Given the description of an element on the screen output the (x, y) to click on. 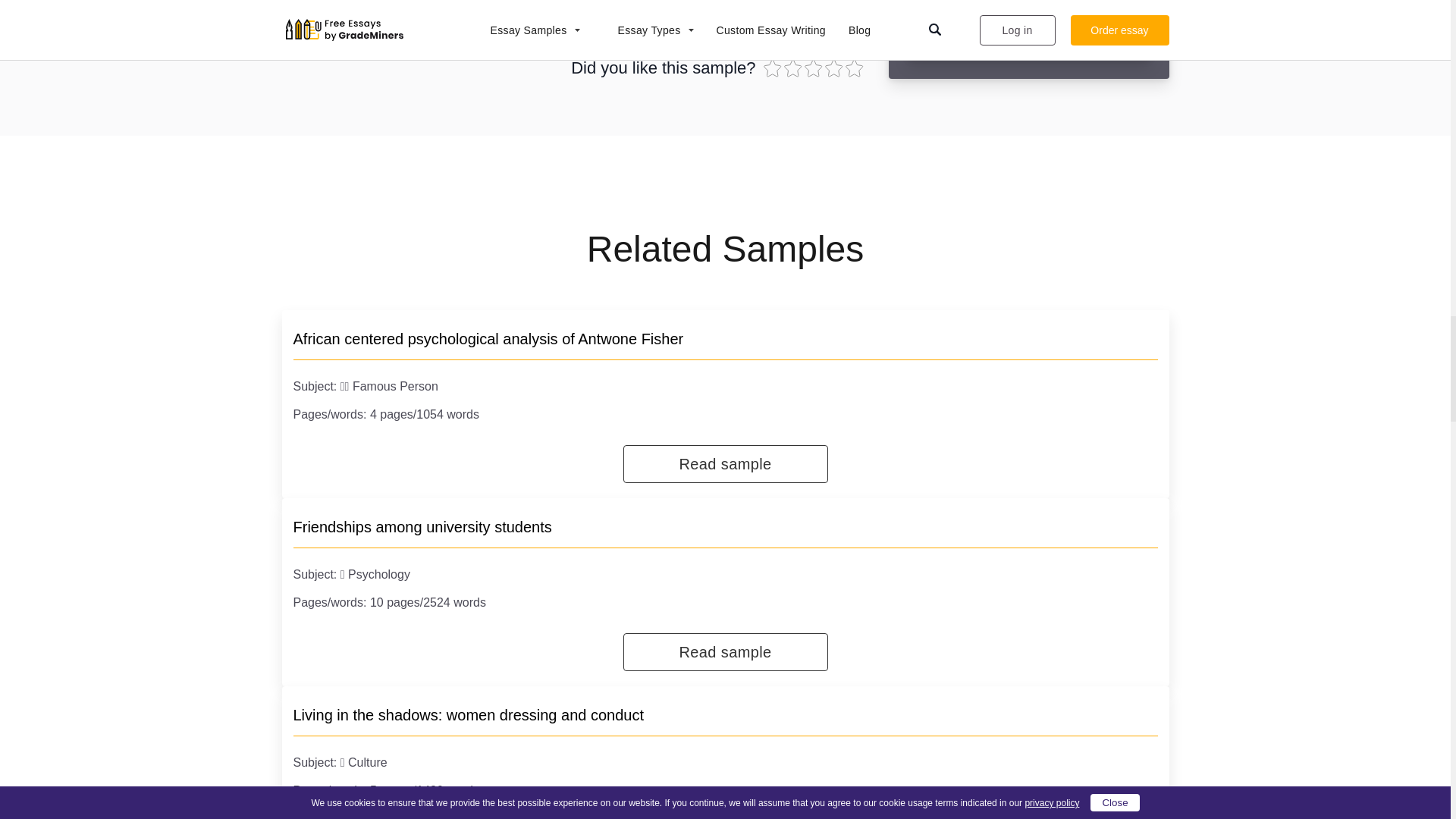
24 votes, average: 4,7 out of 5 (835, 67)
Living in the shadows: women dressing and conduct (467, 714)
24 votes, average: 4,7 out of 5 (794, 67)
Friendships among university students (421, 526)
African centered psychological analysis of Antwone Fisher (487, 338)
24 votes, average: 4,7 out of 5 (854, 67)
24 votes, average: 4,7 out of 5 (772, 67)
24 votes, average: 4,7 out of 5 (813, 67)
